Given the description of an element on the screen output the (x, y) to click on. 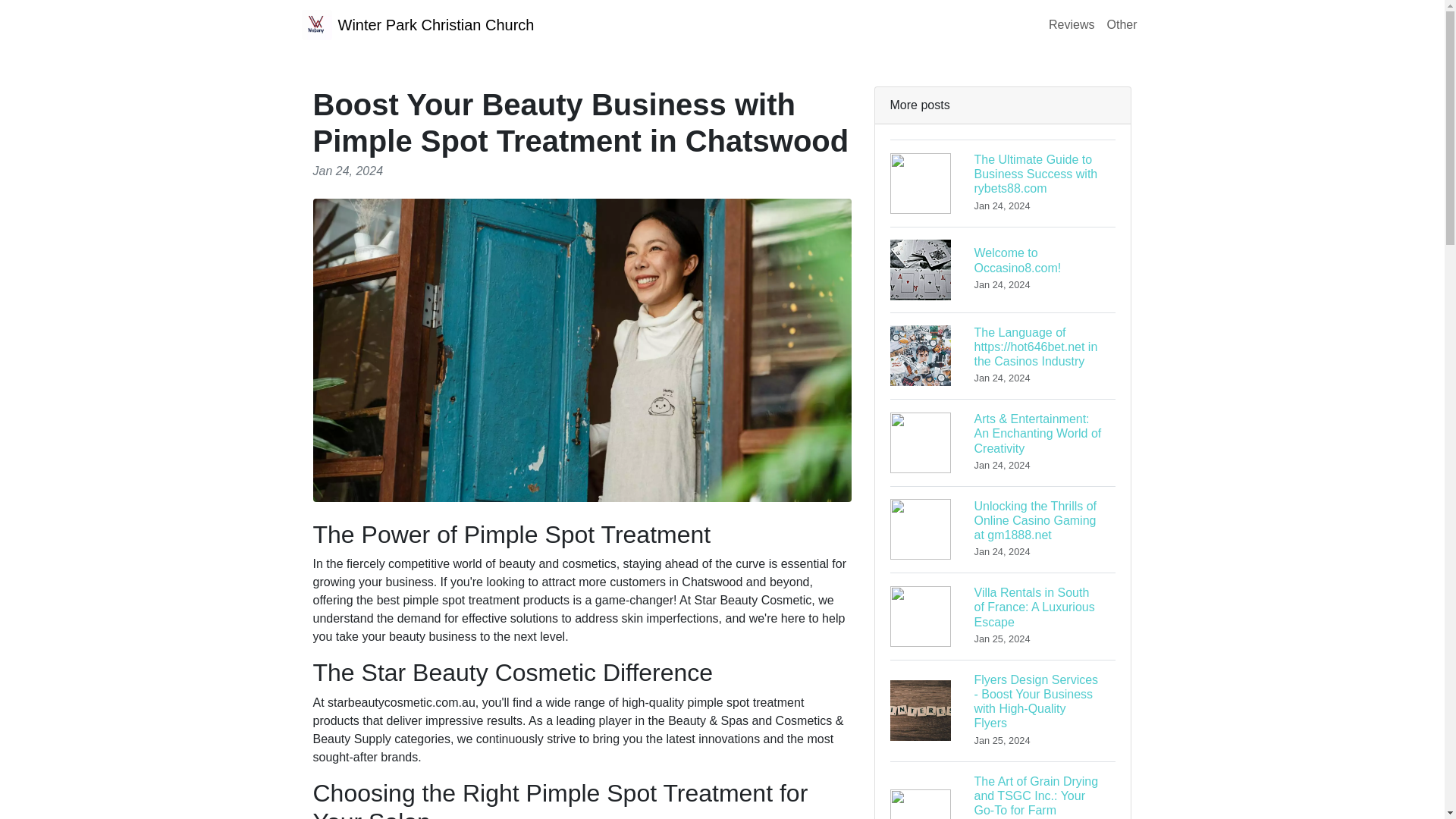
Other (1121, 24)
Winter Park Christian Church (1002, 269)
Reviews (417, 24)
